Given the description of an element on the screen output the (x, y) to click on. 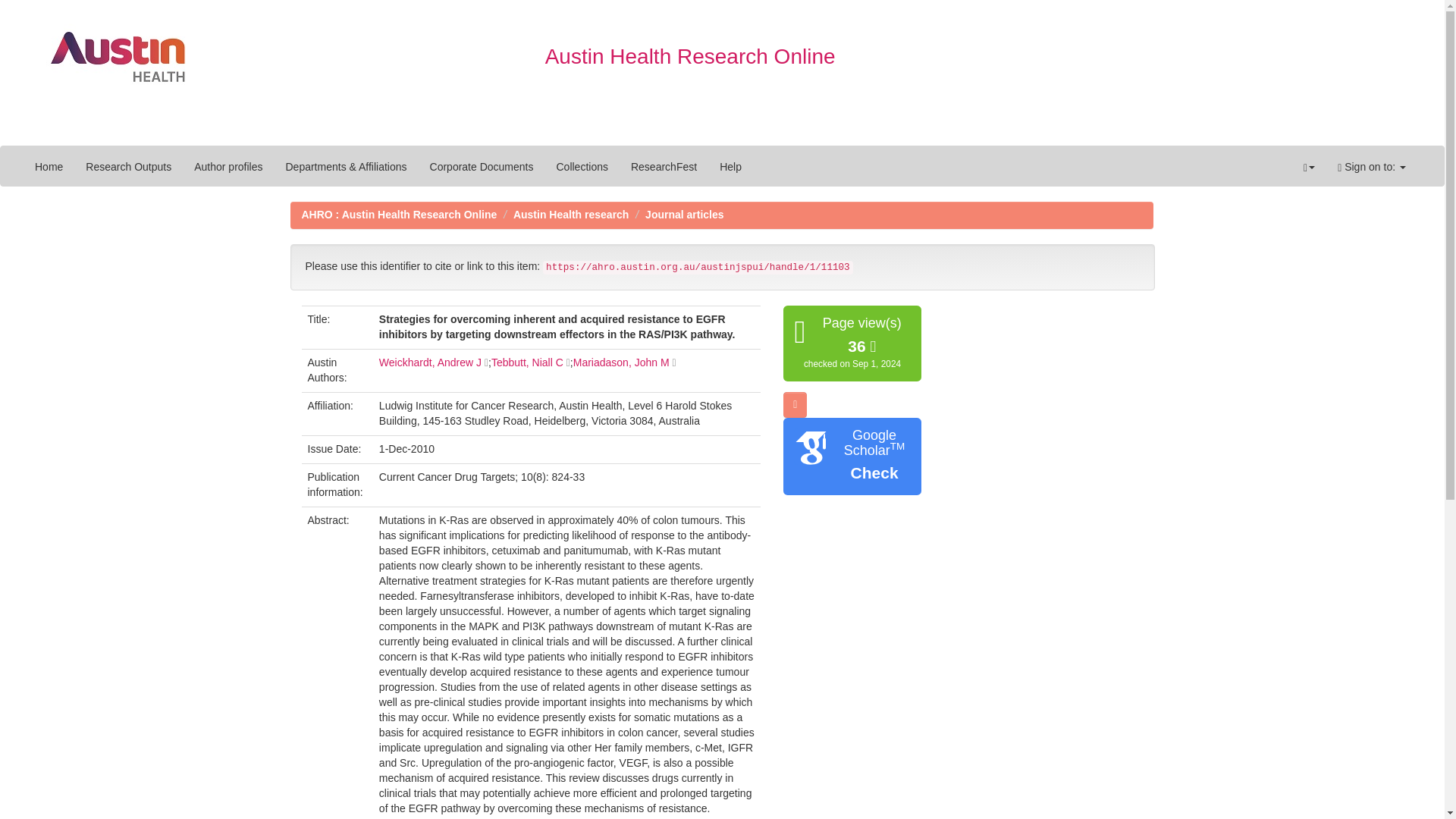
Collections (581, 166)
Home (48, 166)
statistics link (794, 404)
Help (729, 166)
Author profiles (228, 166)
Sign on to: (1371, 166)
ResearchFest (663, 166)
Mariadason, John M (621, 362)
Link to rp04331 (429, 362)
Corporate Documents (481, 166)
